Given the description of an element on the screen output the (x, y) to click on. 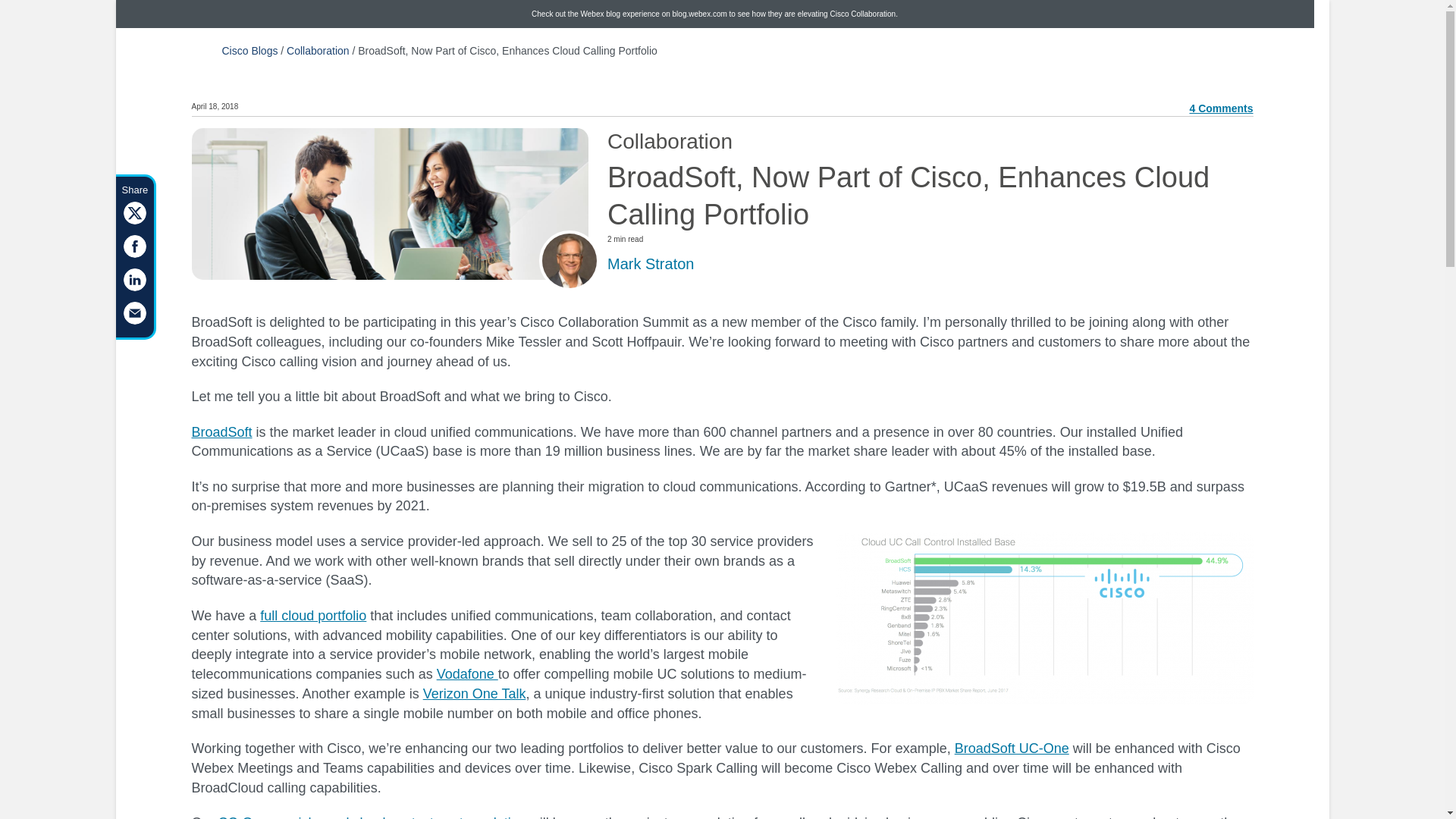
full cloud portfolio (313, 615)
Mark Straton (650, 263)
Collaboration (317, 50)
Verizon One Talk (474, 693)
Cisco Blogs (249, 50)
BroadSoft (220, 432)
Vodafone (466, 673)
CC-One (245, 816)
Posts by Mark Straton (650, 263)
BroadSoft UC-One (1011, 748)
